Given the description of an element on the screen output the (x, y) to click on. 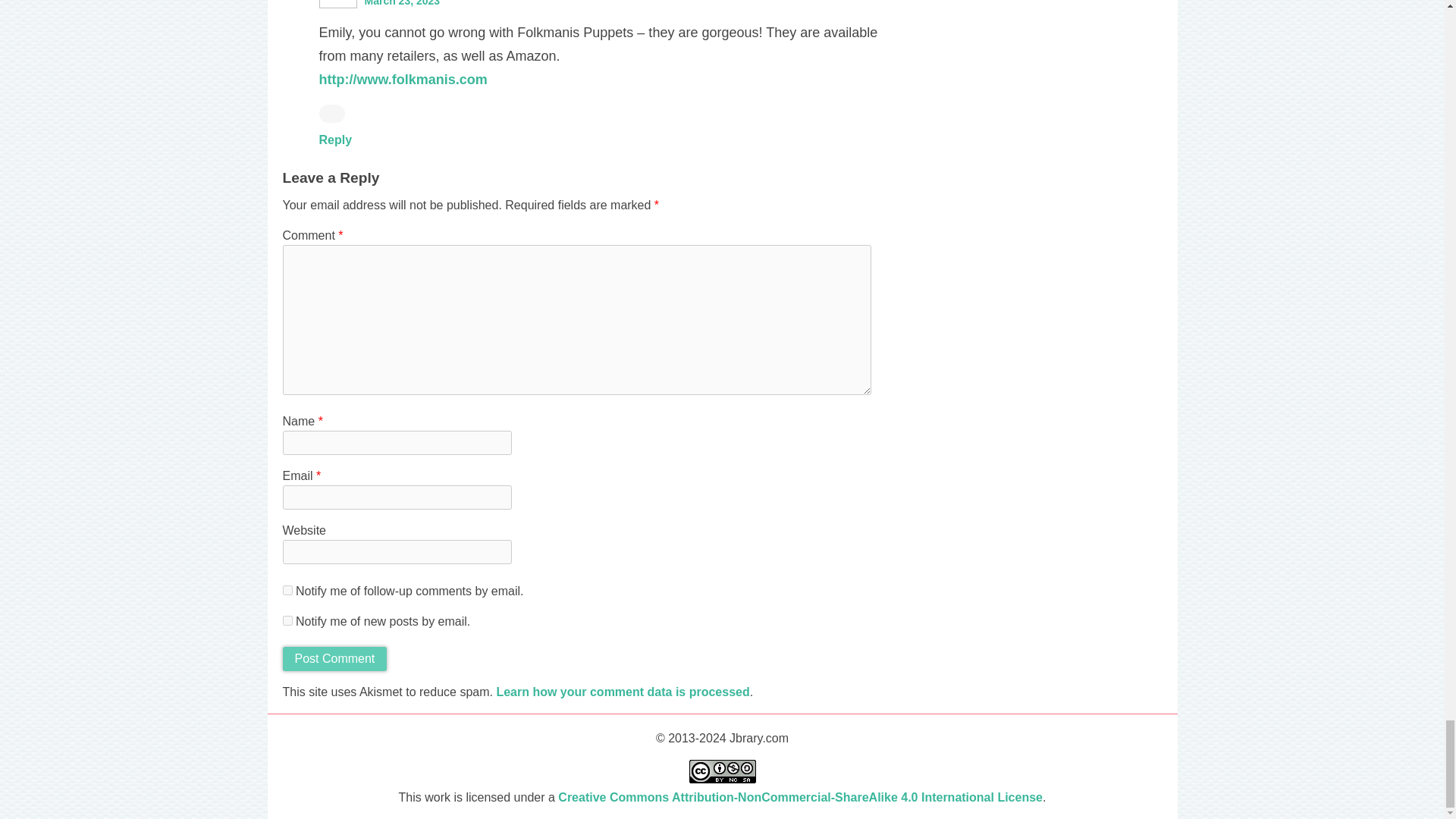
Post Comment (334, 658)
subscribe (287, 590)
subscribe (287, 620)
